Given the description of an element on the screen output the (x, y) to click on. 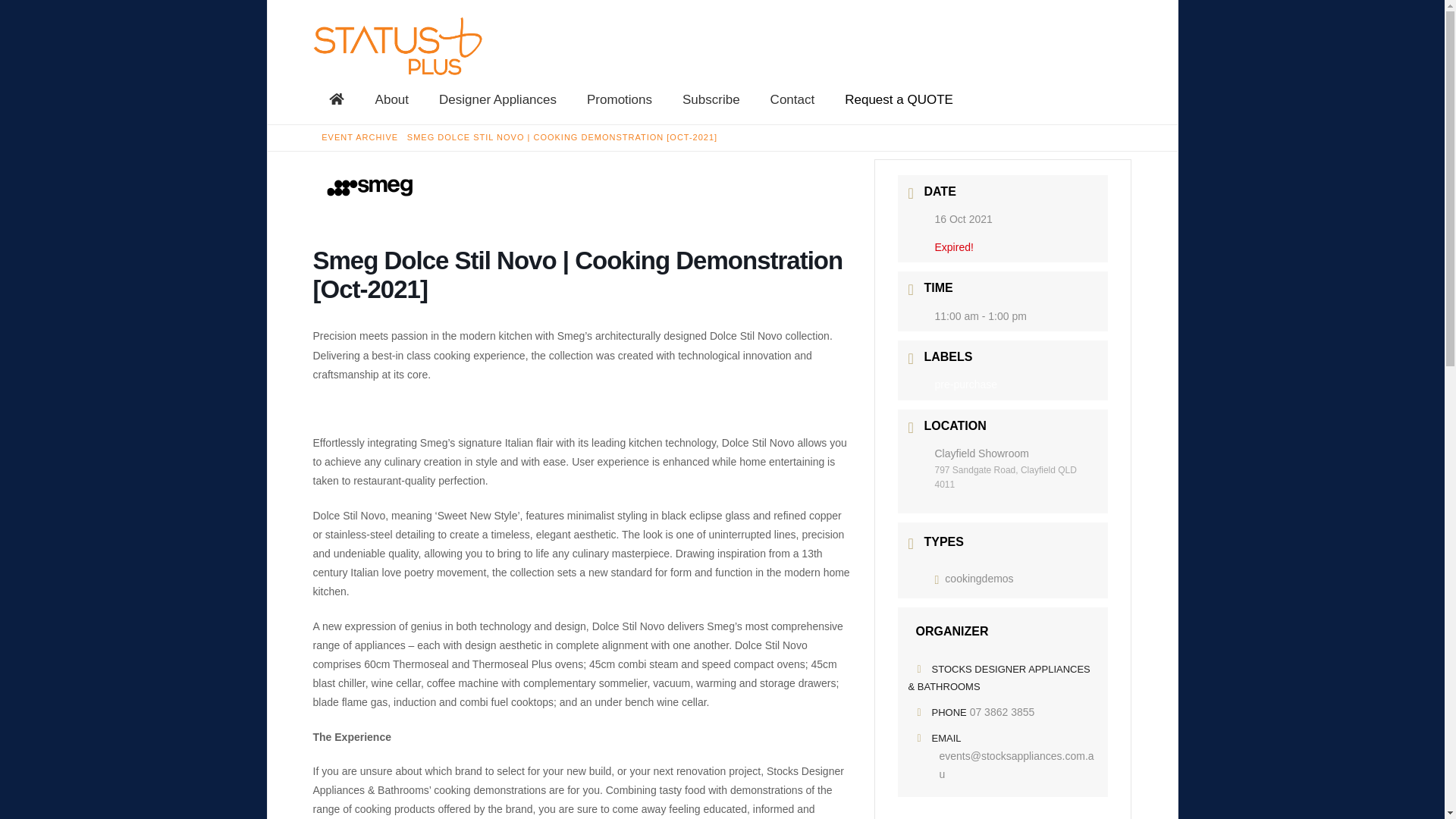
You Are Here (562, 137)
Request a QUOTE (898, 100)
07 3862 3855 (1002, 711)
About (391, 100)
Subscribe (710, 100)
Promotions (619, 100)
Designer Appliances (497, 100)
Contact (792, 100)
EVENT ARCHIVE (359, 137)
cookingdemos (973, 578)
